Given the description of an element on the screen output the (x, y) to click on. 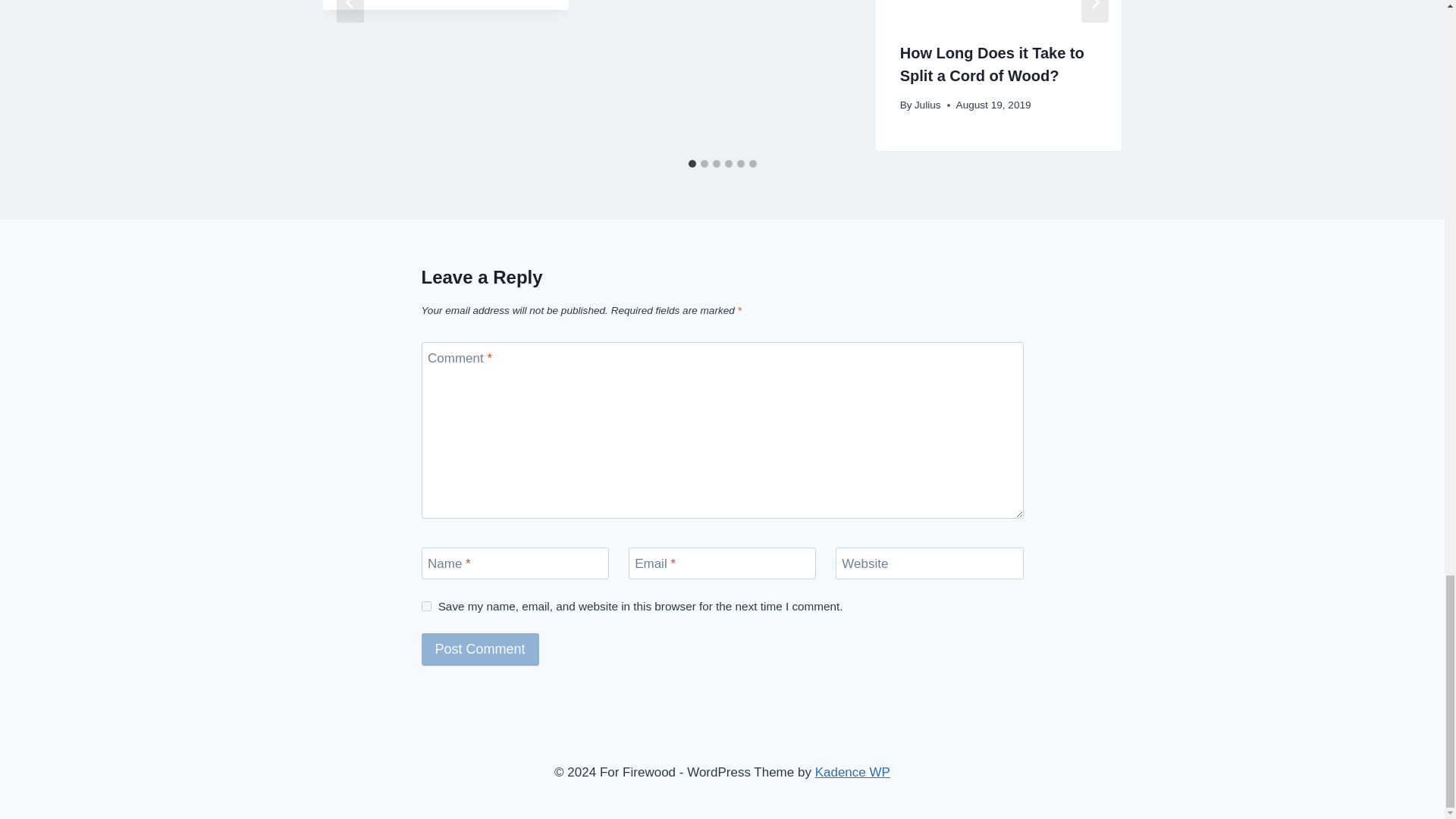
Post Comment (480, 649)
yes (426, 605)
